Given the description of an element on the screen output the (x, y) to click on. 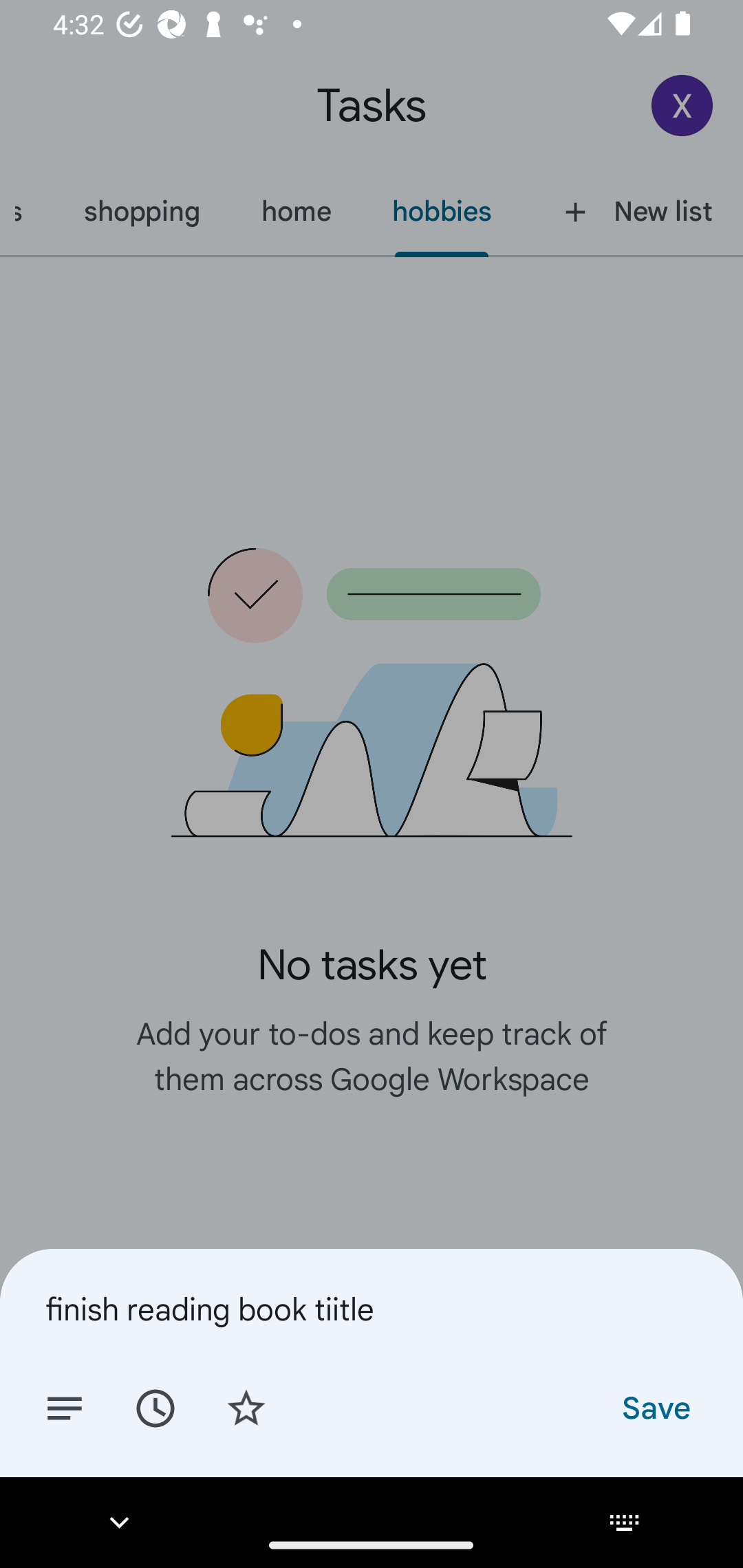
finish reading book tiitle (371, 1308)
Save (655, 1407)
Add details (64, 1407)
Set date/time (154, 1407)
Add star (245, 1407)
